Given the description of an element on the screen output the (x, y) to click on. 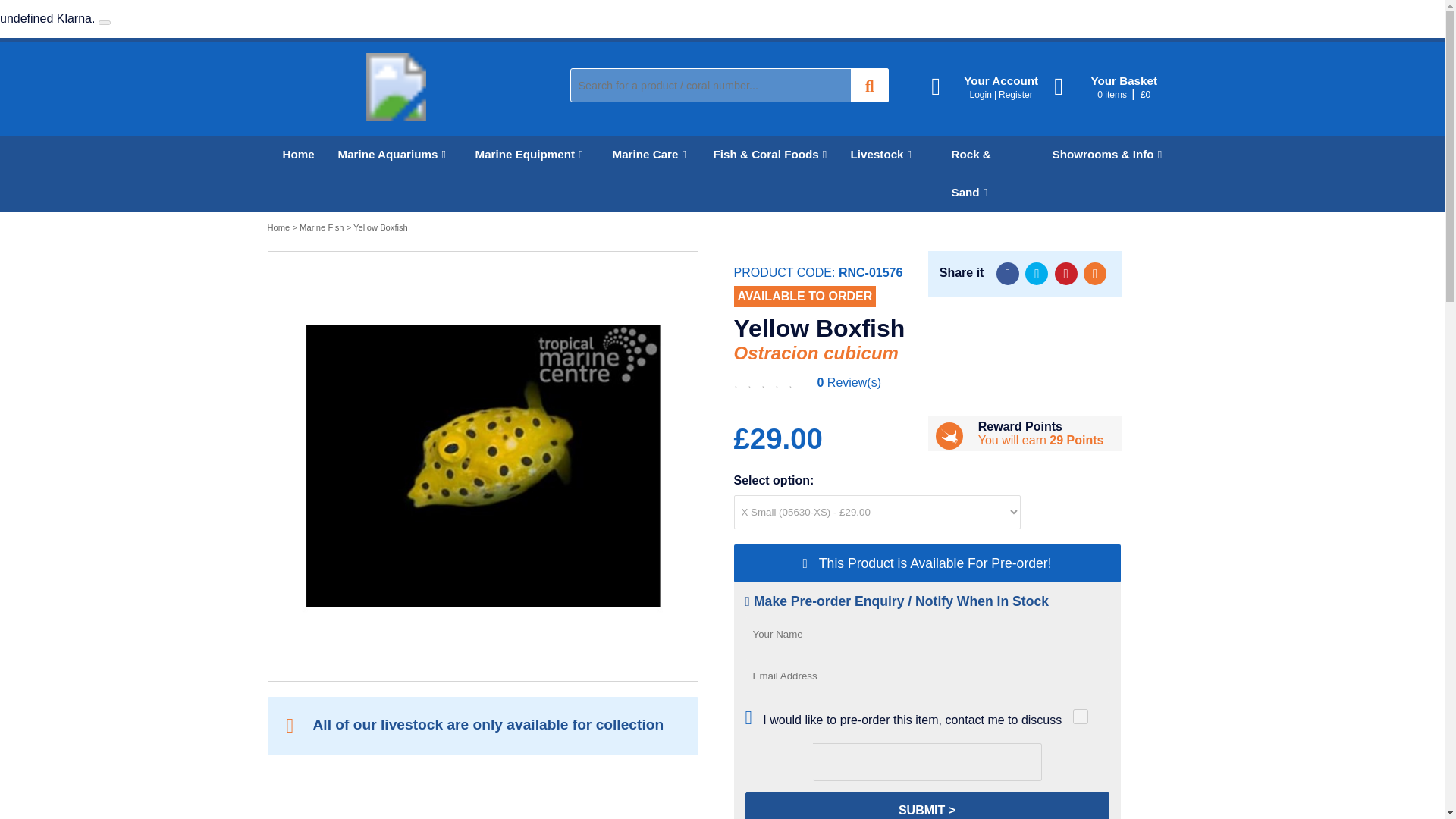
Marine Equipment (527, 154)
Login (980, 94)
Account (992, 86)
Register (1015, 94)
Home (293, 154)
Marine Care (646, 154)
Rock'N'Critters (395, 116)
Your Account (992, 86)
Register (1015, 94)
Marine Aquariums (391, 154)
